Given the description of an element on the screen output the (x, y) to click on. 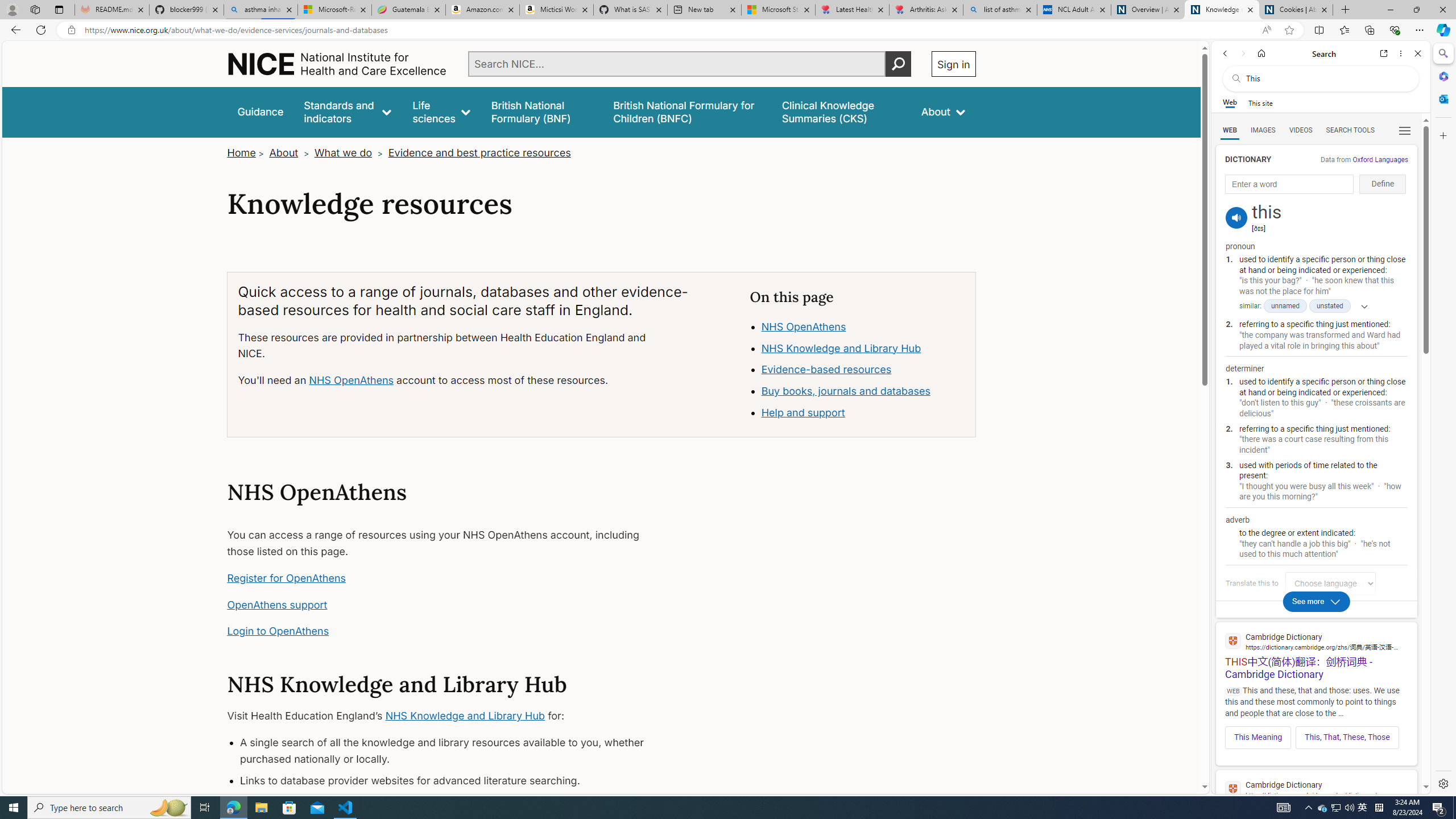
Help and support (863, 412)
NHS OpenAthens (863, 326)
British National Formulary for Children (BNFC) (686, 111)
Perform search (898, 63)
